Given the description of an element on the screen output the (x, y) to click on. 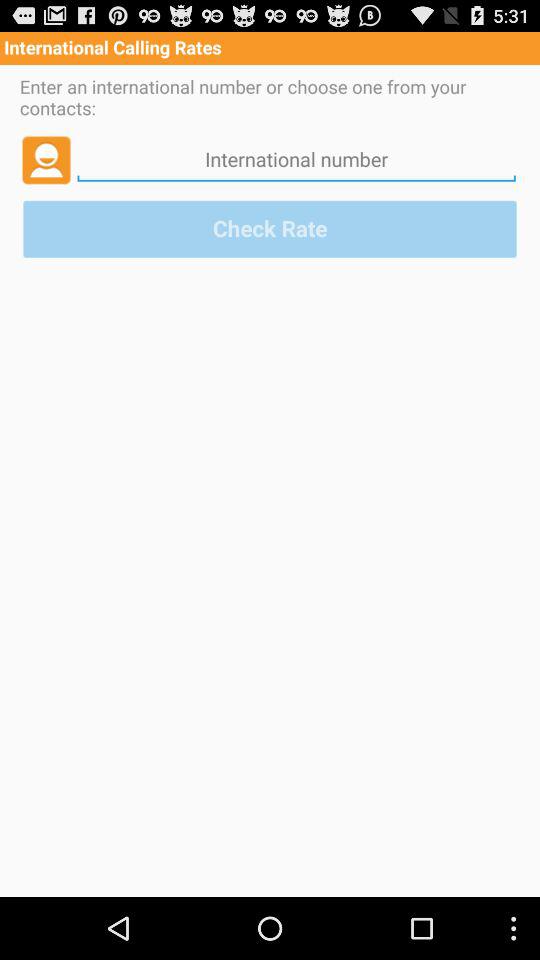
flip until the check rate item (269, 228)
